Given the description of an element on the screen output the (x, y) to click on. 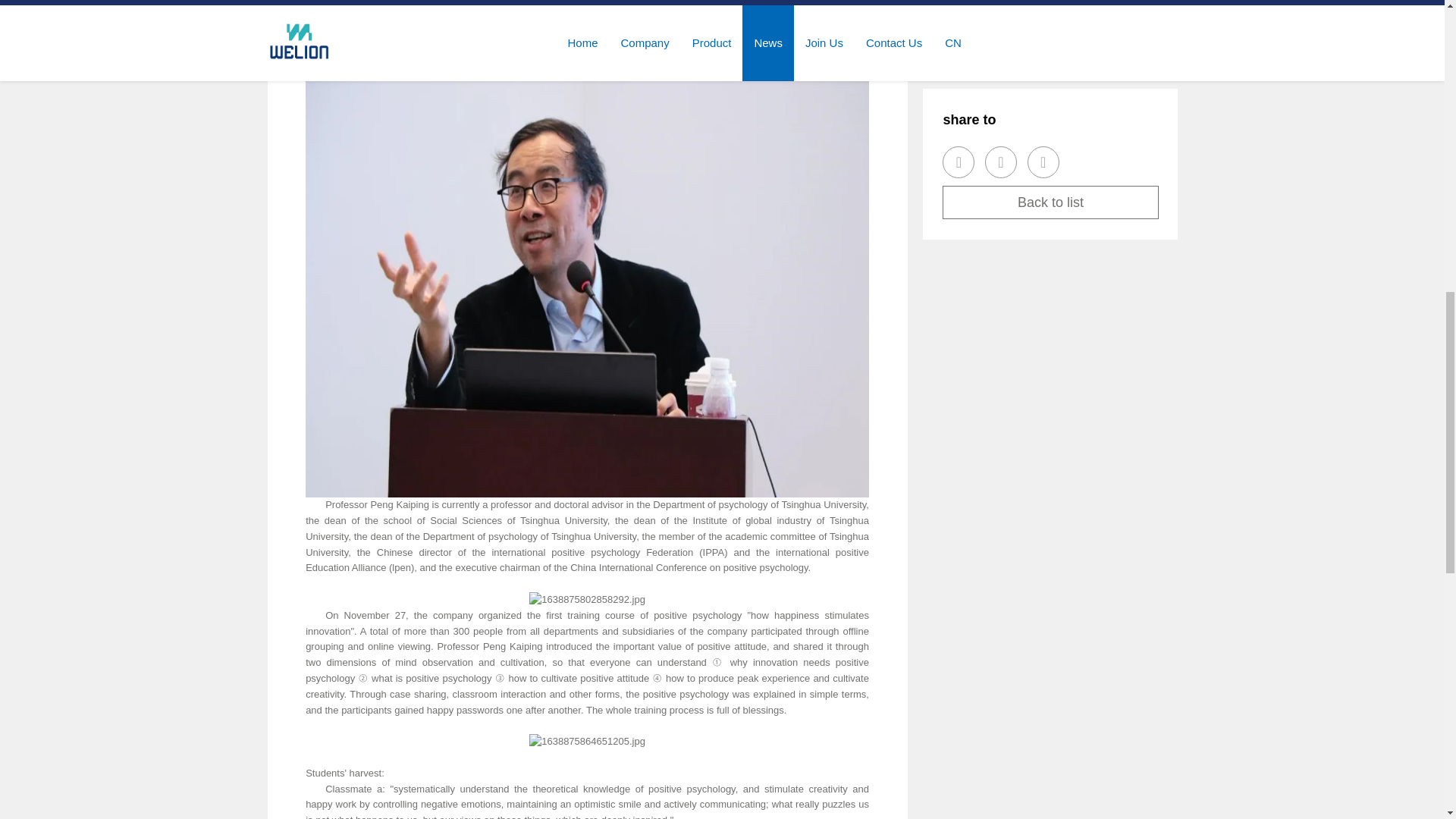
1638875802858292.jpg (587, 600)
1638875864651205.jpg (587, 741)
